Given the description of an element on the screen output the (x, y) to click on. 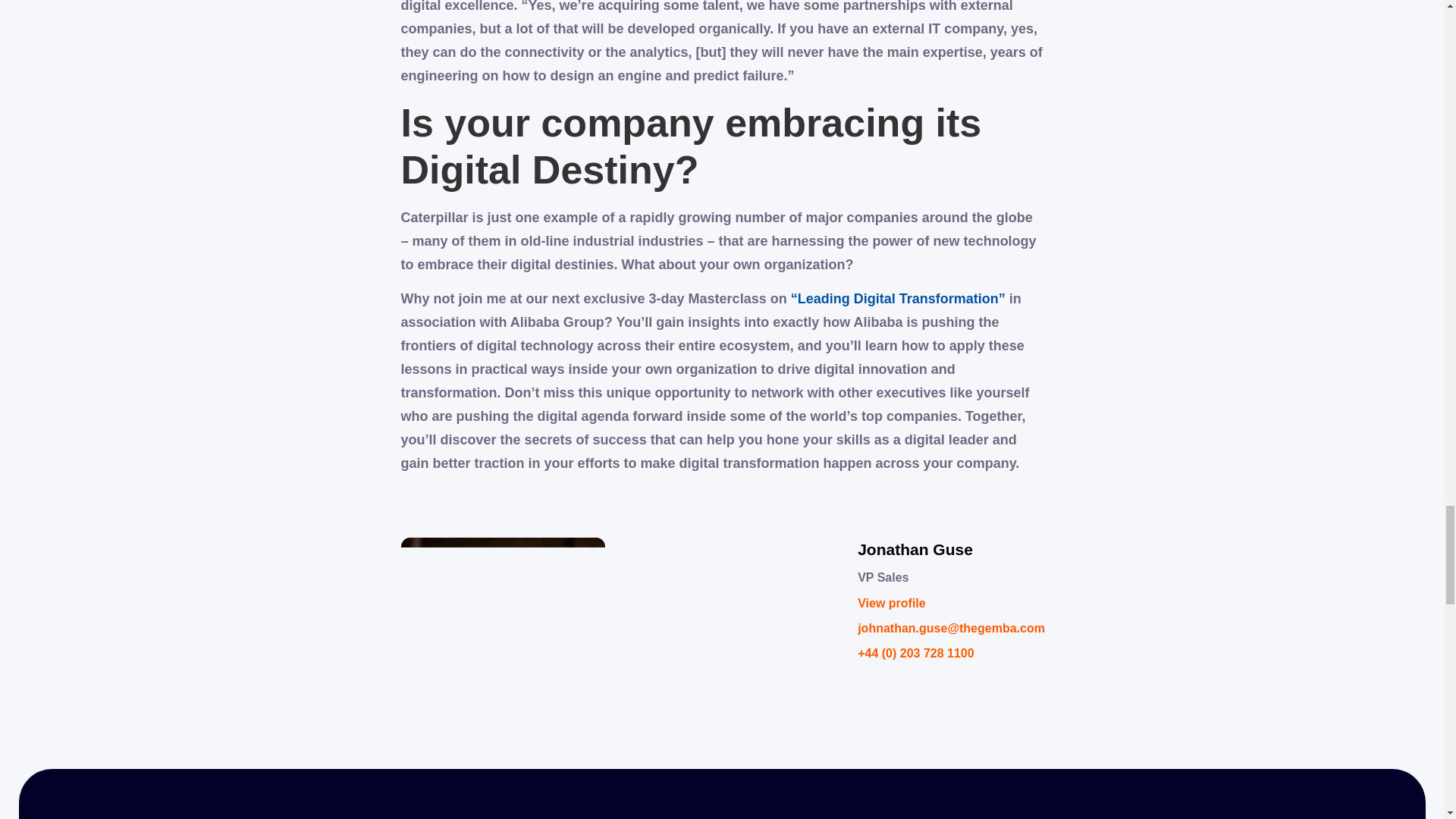
Jonathan Guse (951, 554)
View profile (951, 608)
VP Sales (951, 582)
SCALE YOUR BUSINESS WITH GEMBA (722, 797)
